Given the description of an element on the screen output the (x, y) to click on. 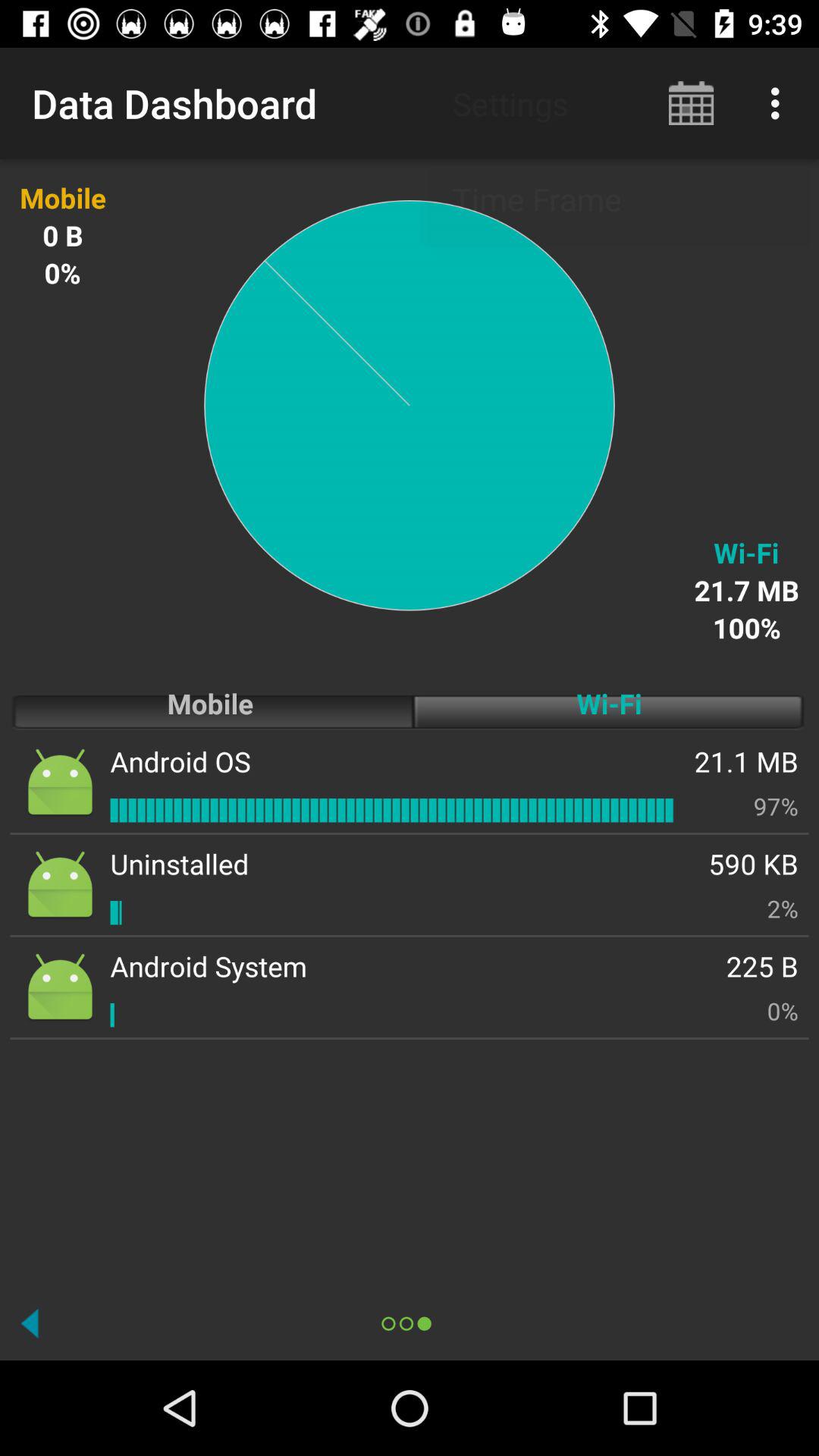
tap icon below the mobile (180, 761)
